Given the description of an element on the screen output the (x, y) to click on. 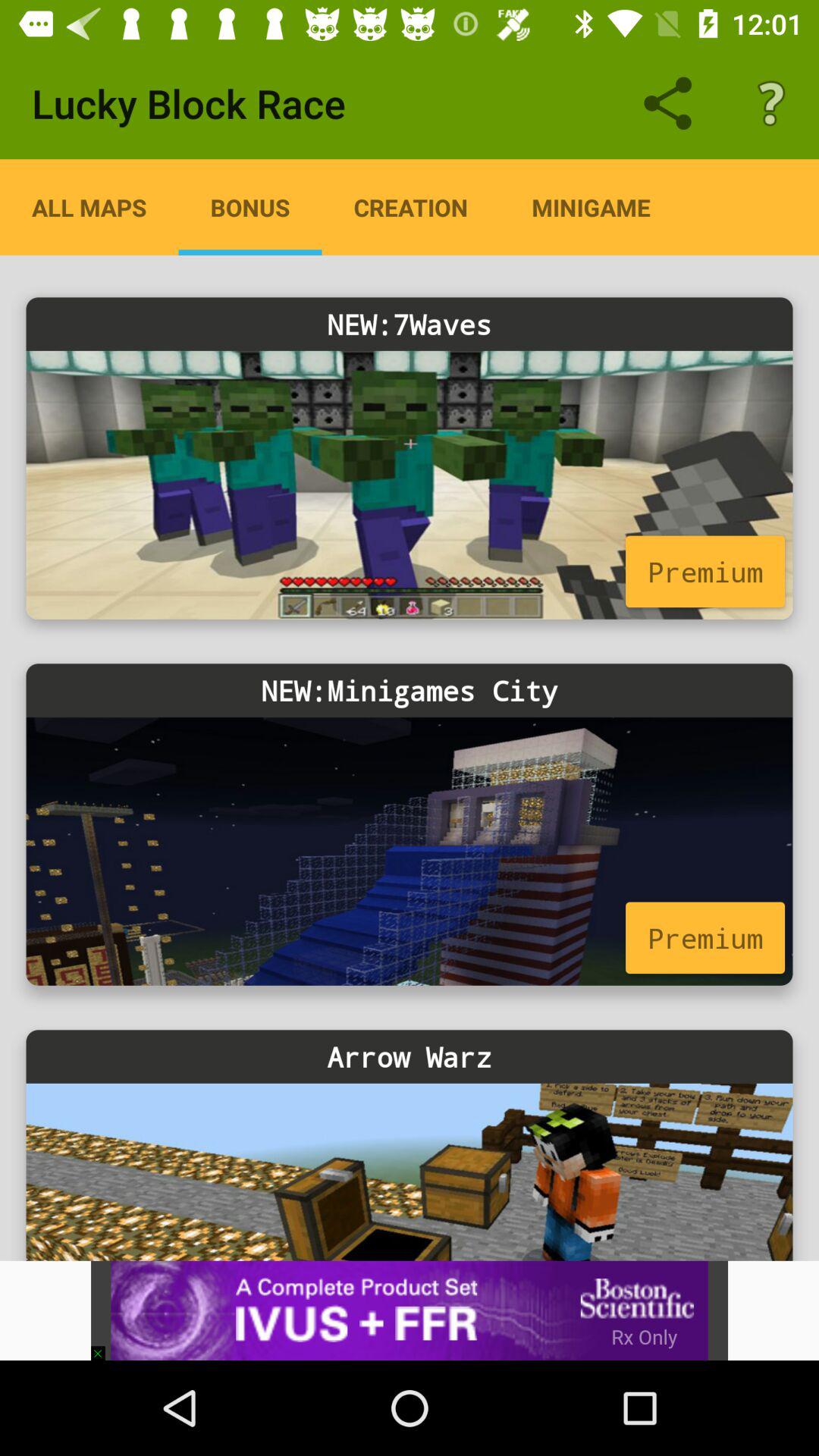
choose game 7waves (409, 484)
